Given the description of an element on the screen output the (x, y) to click on. 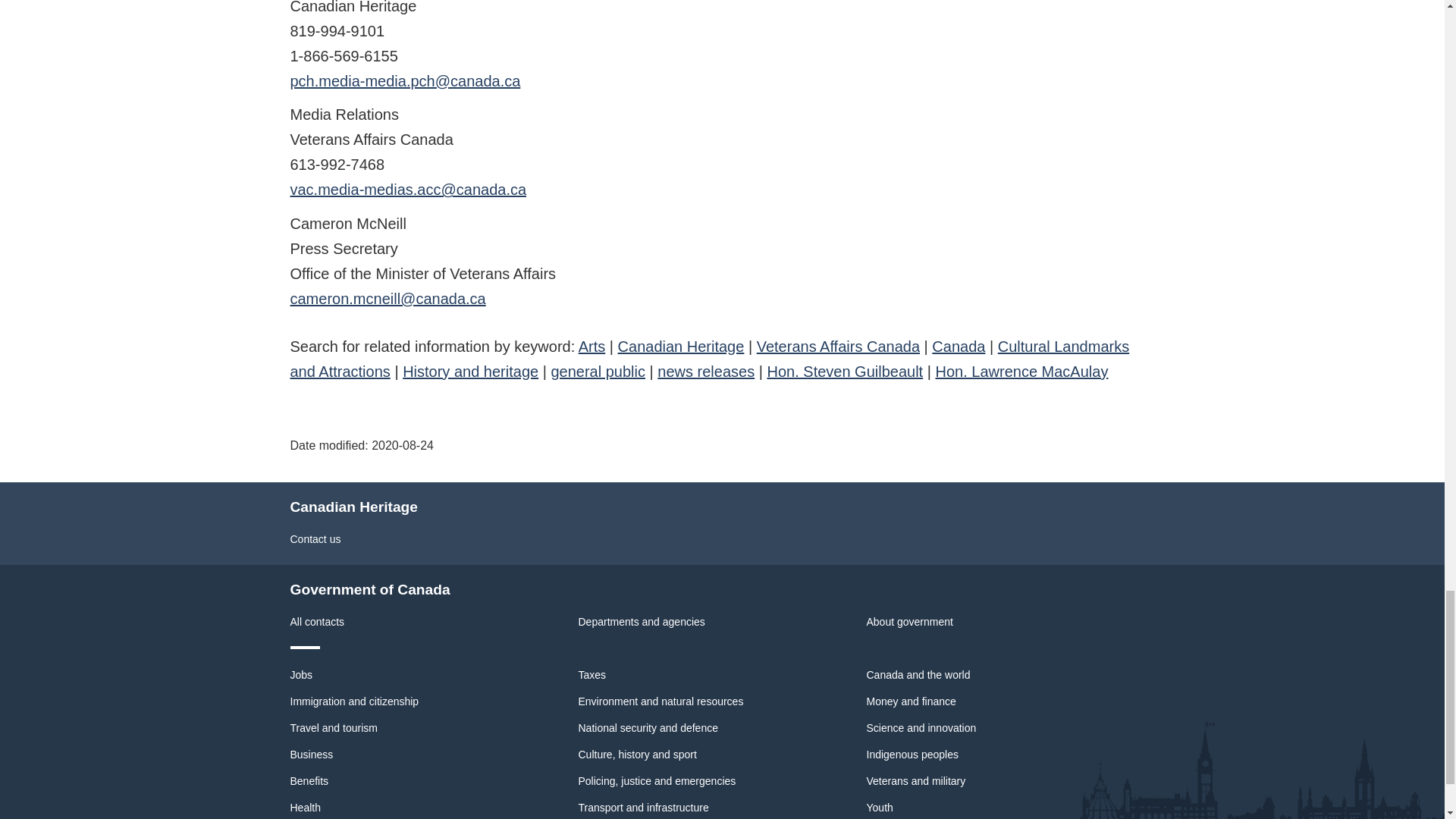
Canadian Heritage (680, 346)
news releases (706, 371)
History and heritage (470, 371)
Canada (958, 346)
Cultural Landmarks and Attractions (709, 359)
general public (597, 371)
Veterans Affairs Canada (838, 346)
Arts (591, 346)
